Given the description of an element on the screen output the (x, y) to click on. 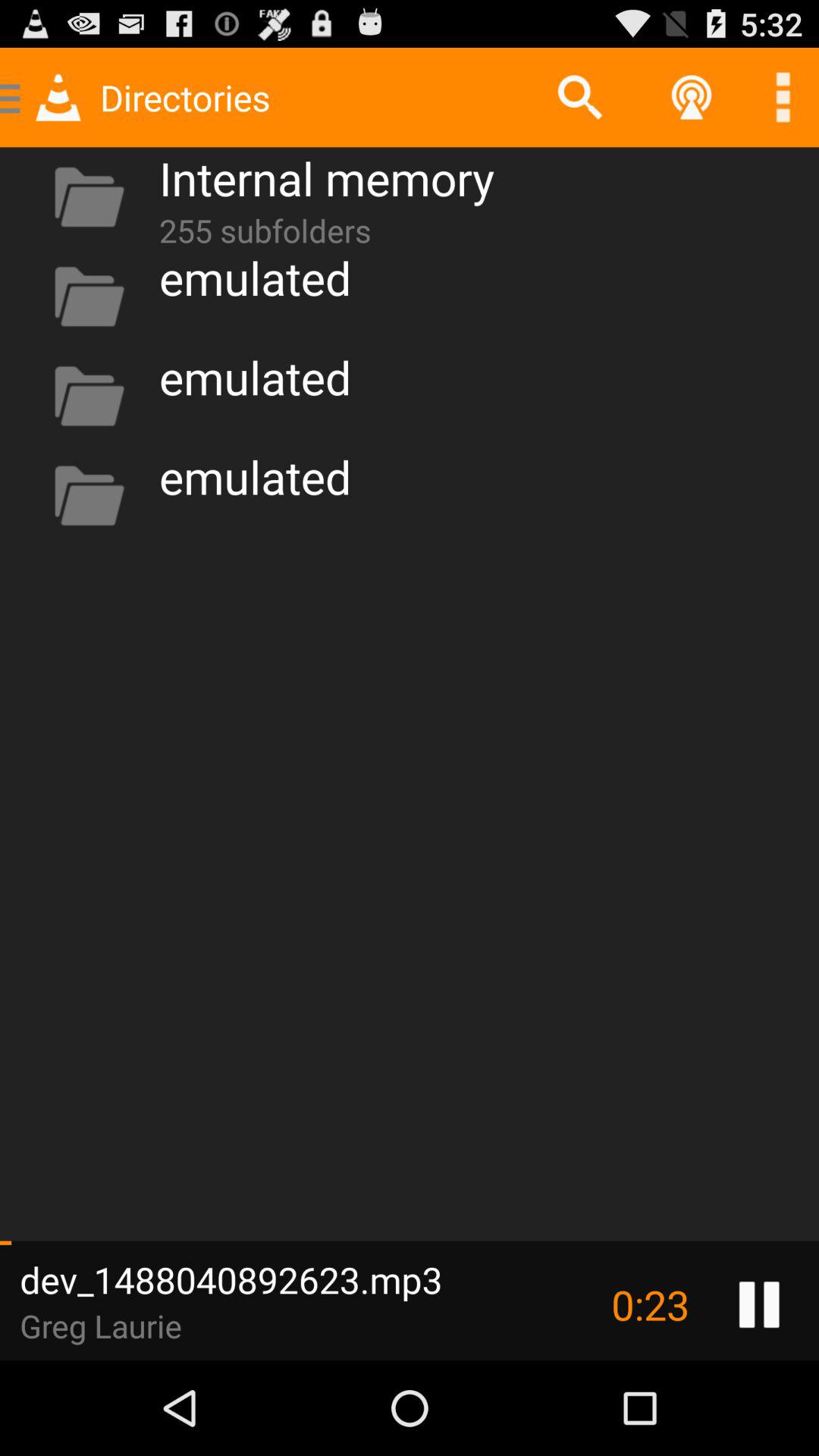
select the icon above emulated item (265, 227)
